Given the description of an element on the screen output the (x, y) to click on. 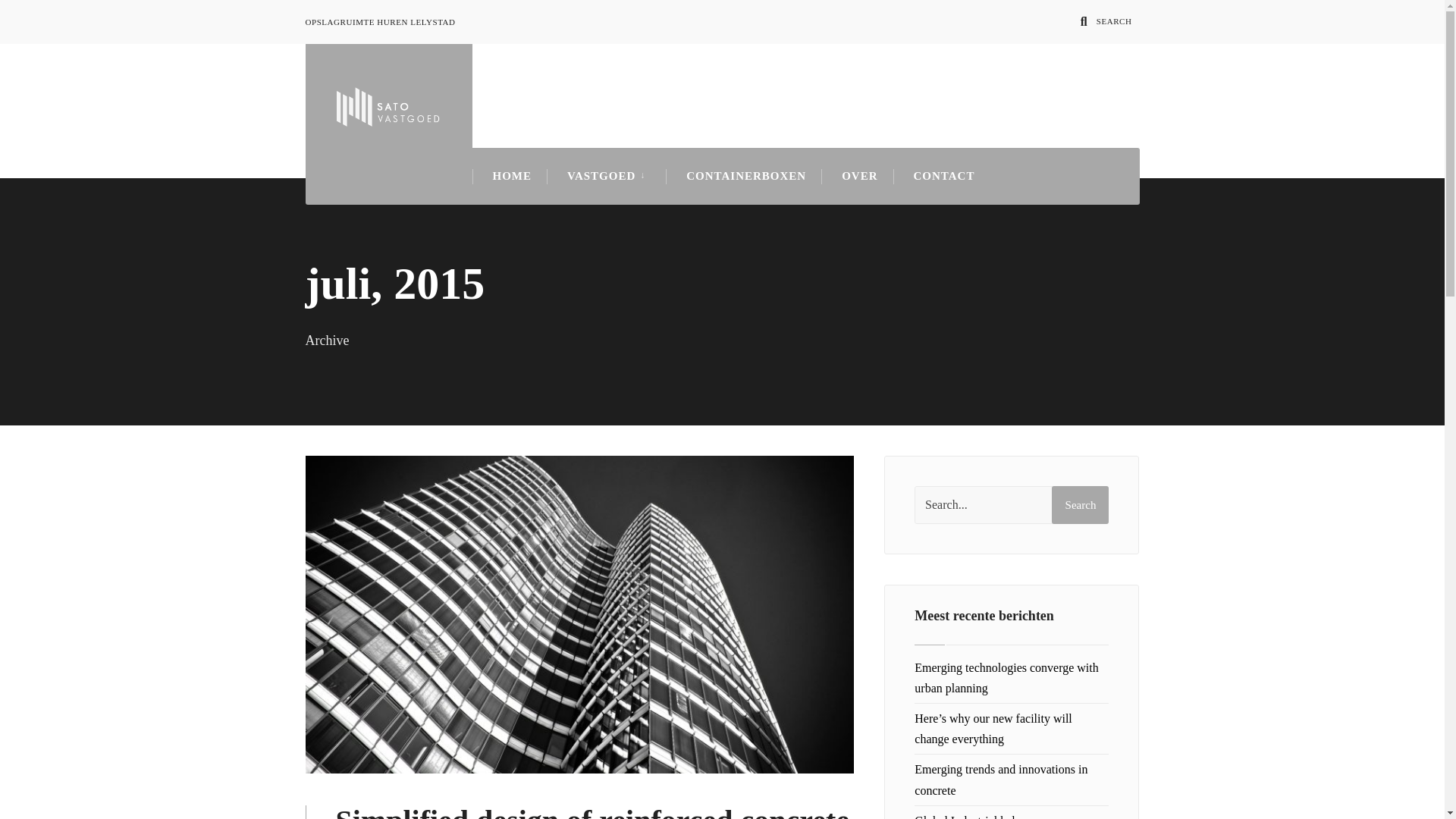
OVER (859, 175)
Emerging technologies converge with urban planning (1005, 677)
CONTAINERBOXEN (745, 175)
VASTGOED (608, 175)
HOME (512, 175)
SEARCH (1105, 20)
CONTACT (944, 175)
Search (1079, 505)
Simplified design of reinforced concrete buildings (591, 811)
